Given the description of an element on the screen output the (x, y) to click on. 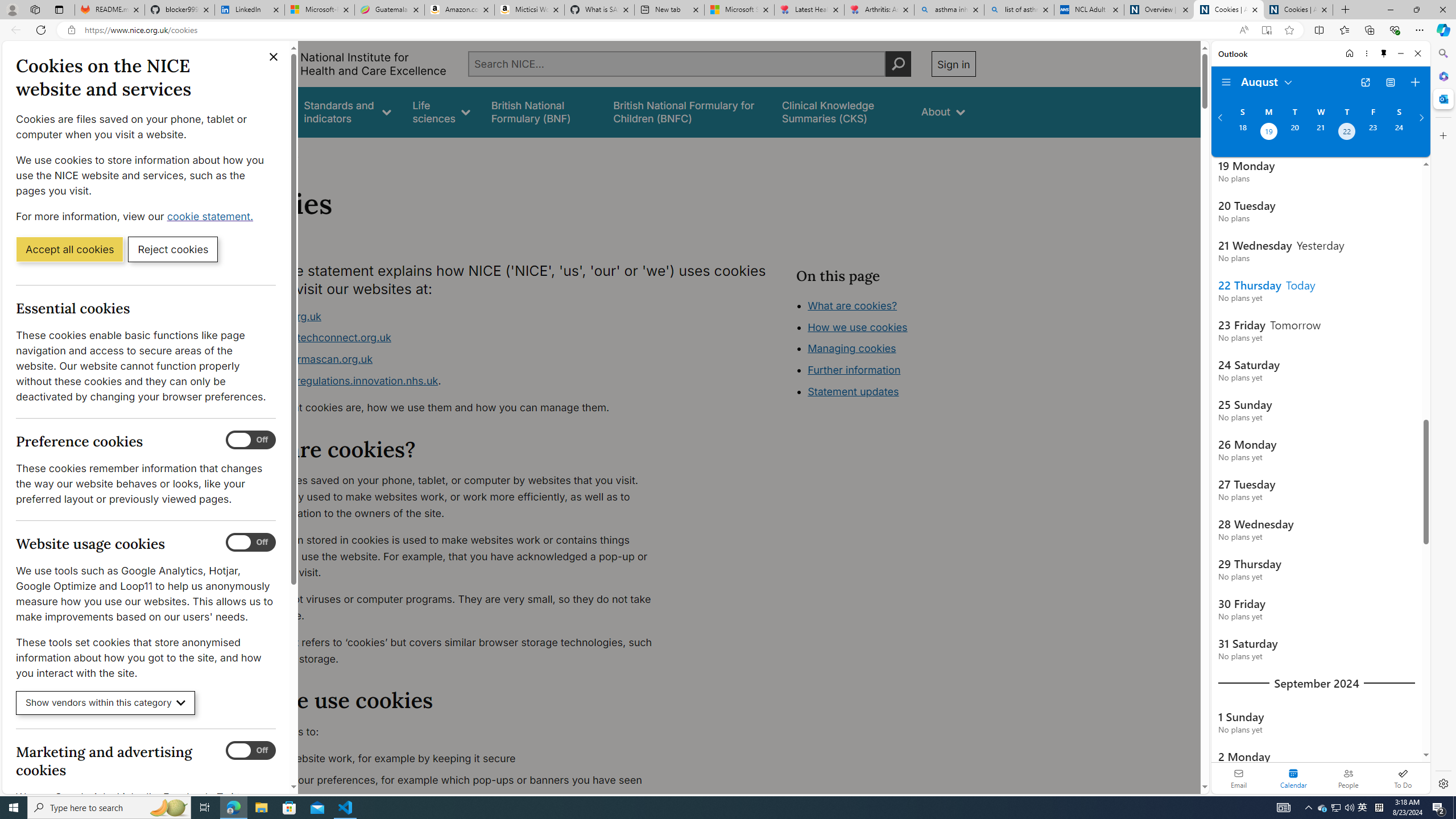
Preference cookies (250, 439)
People (1347, 777)
Close cookie banner (273, 56)
